Given the description of an element on the screen output the (x, y) to click on. 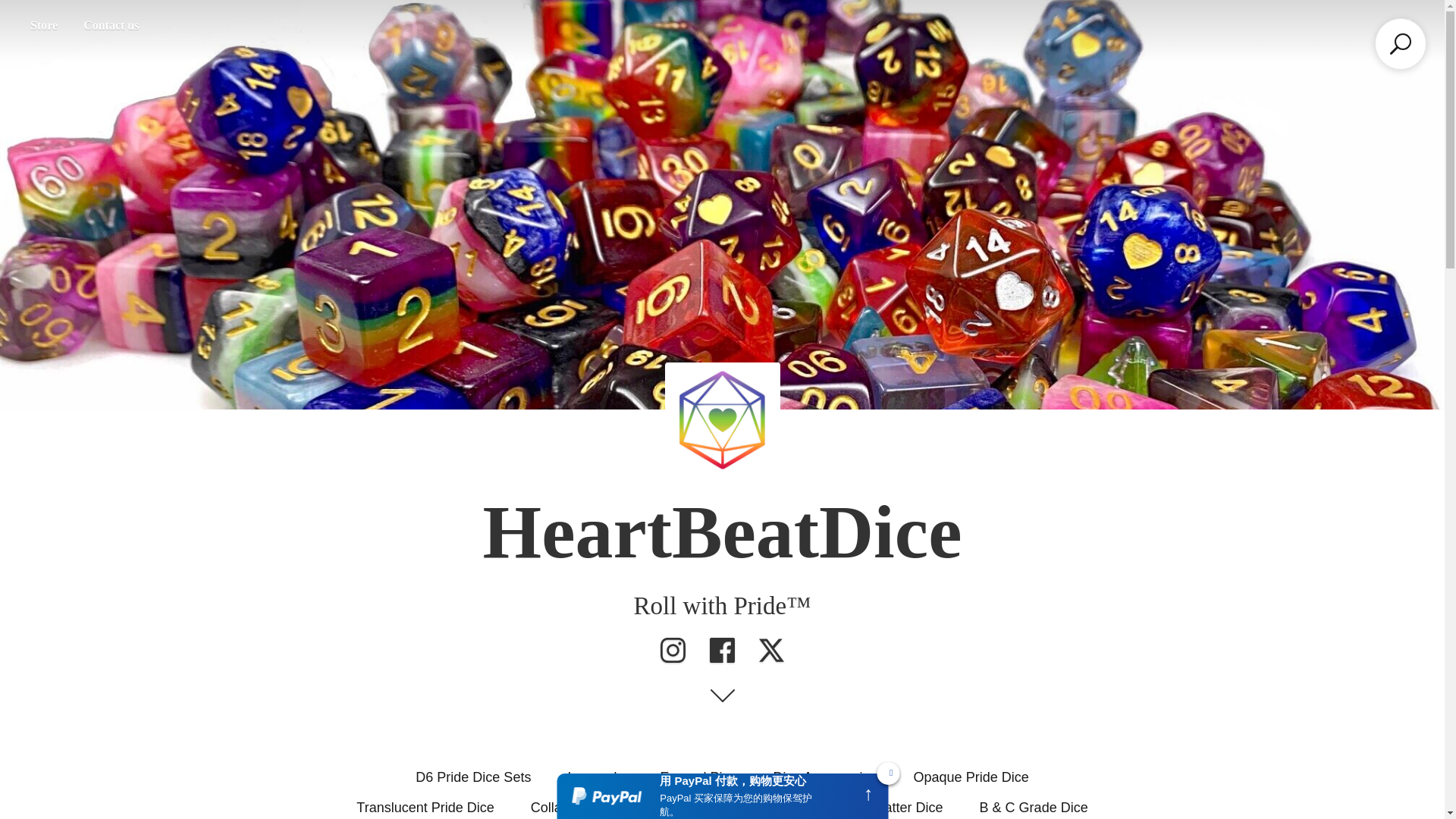
Contact us (110, 25)
Store (43, 25)
